Given the description of an element on the screen output the (x, y) to click on. 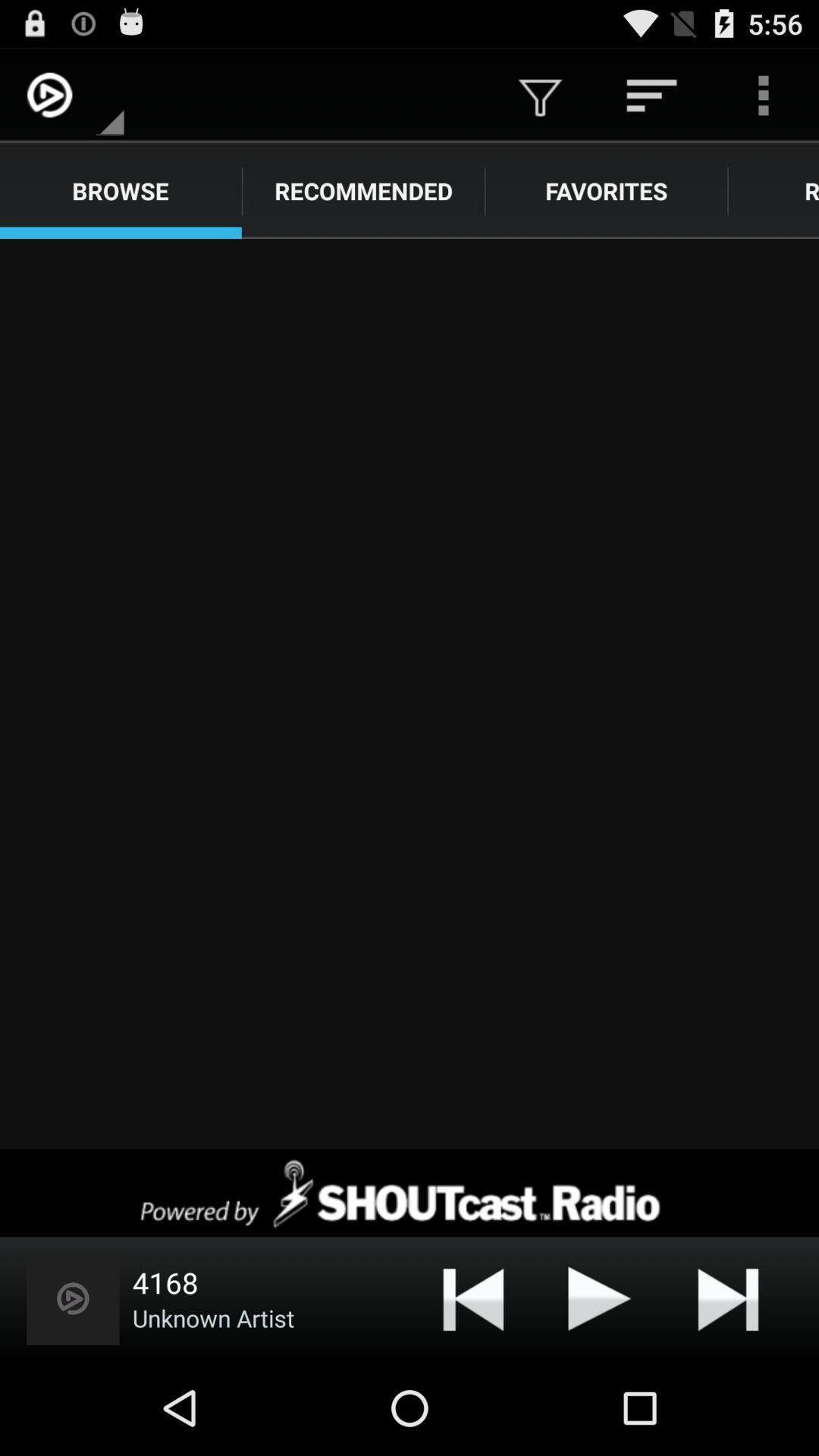
choose app above recent icon (763, 95)
